Given the description of an element on the screen output the (x, y) to click on. 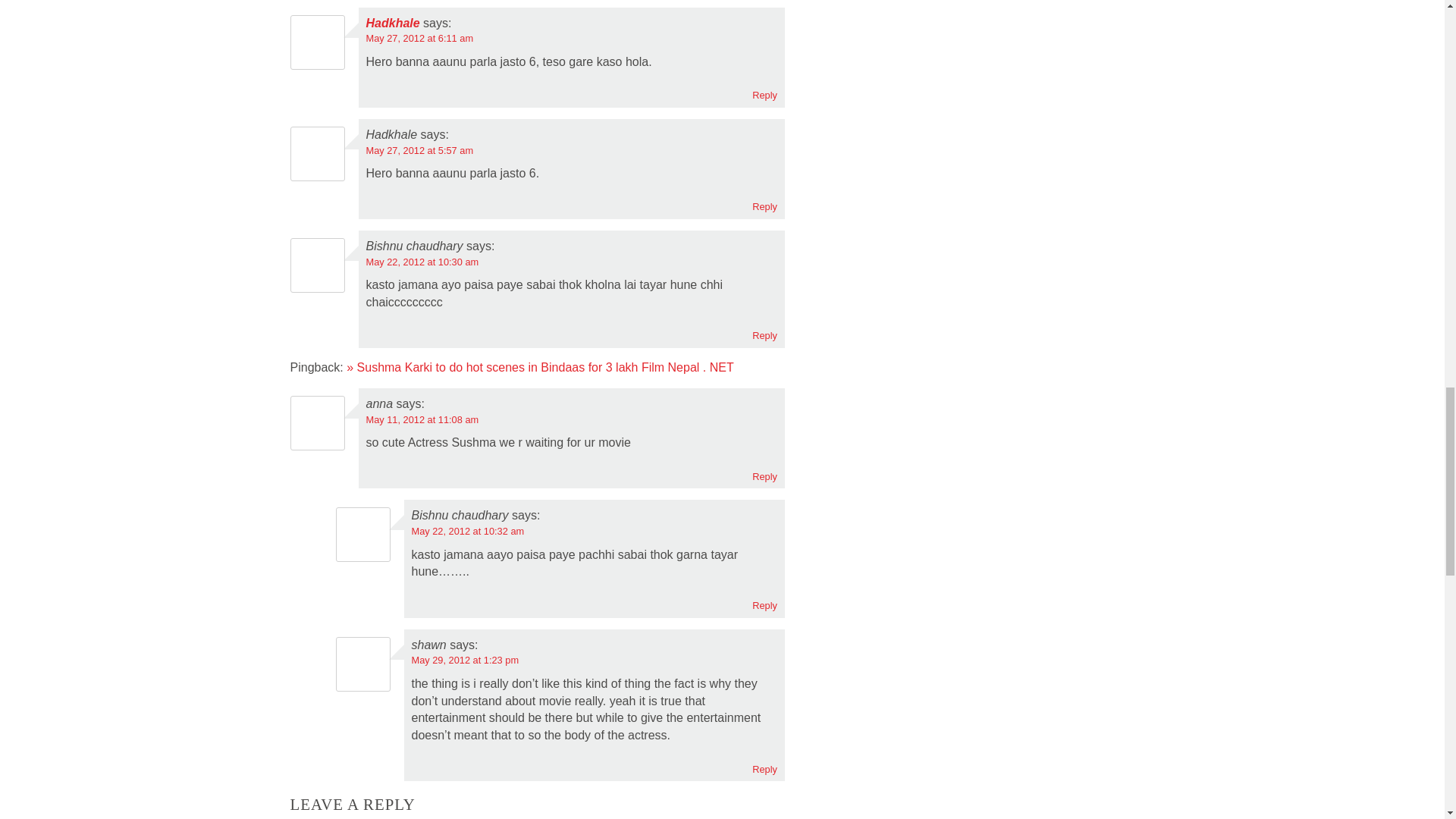
Reply (764, 94)
May 27, 2012 at 6:11 am (419, 38)
Hadkhale (392, 22)
